Given the description of an element on the screen output the (x, y) to click on. 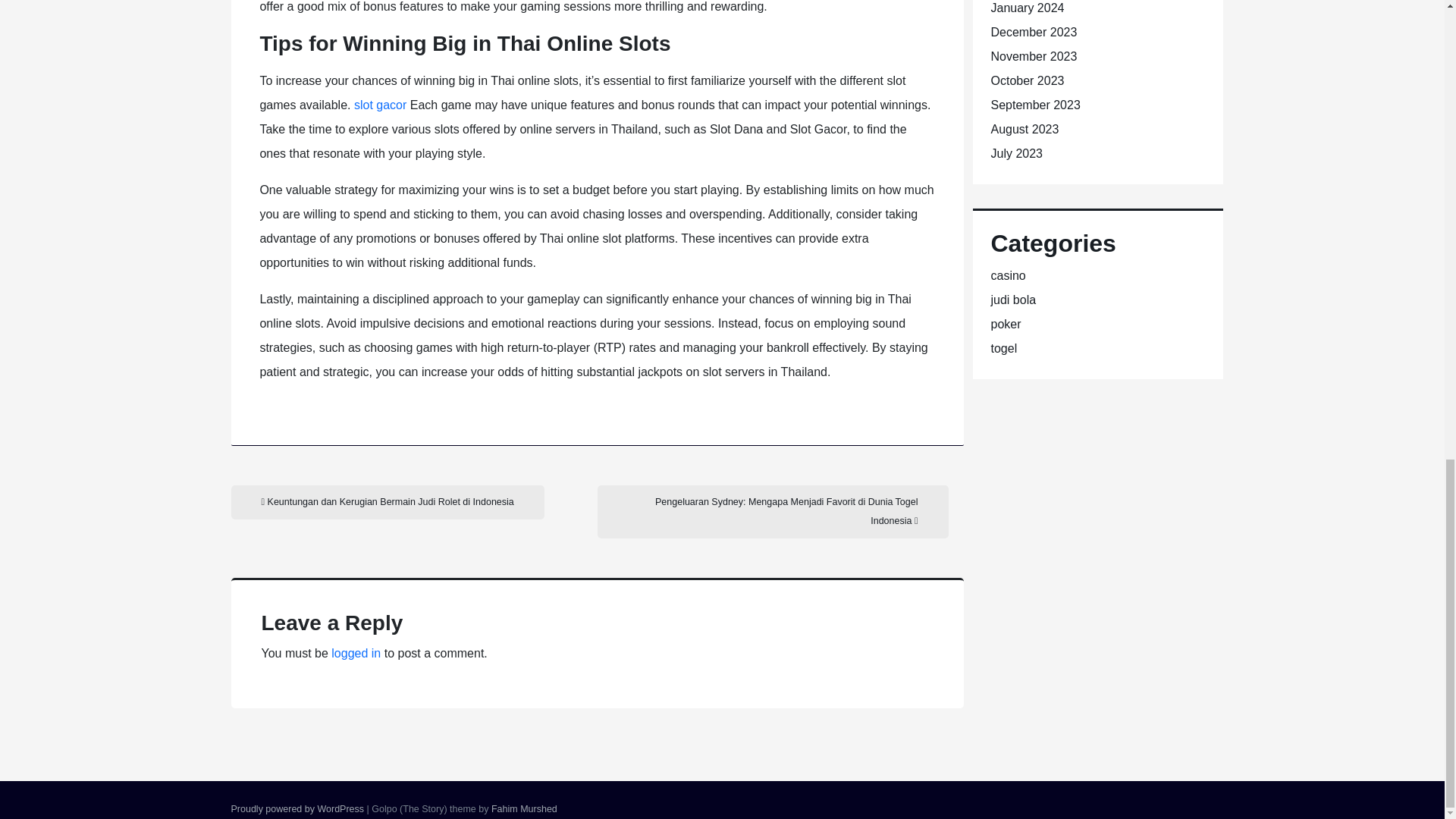
slot gacor (379, 104)
January 2024 (1027, 7)
November 2023 (1033, 56)
poker (1005, 323)
August 2023 (1024, 128)
October 2023 (1027, 80)
togel (1003, 348)
September 2023 (1035, 104)
Keuntungan dan Kerugian Bermain Judi Rolet di Indonesia (386, 502)
